Given the description of an element on the screen output the (x, y) to click on. 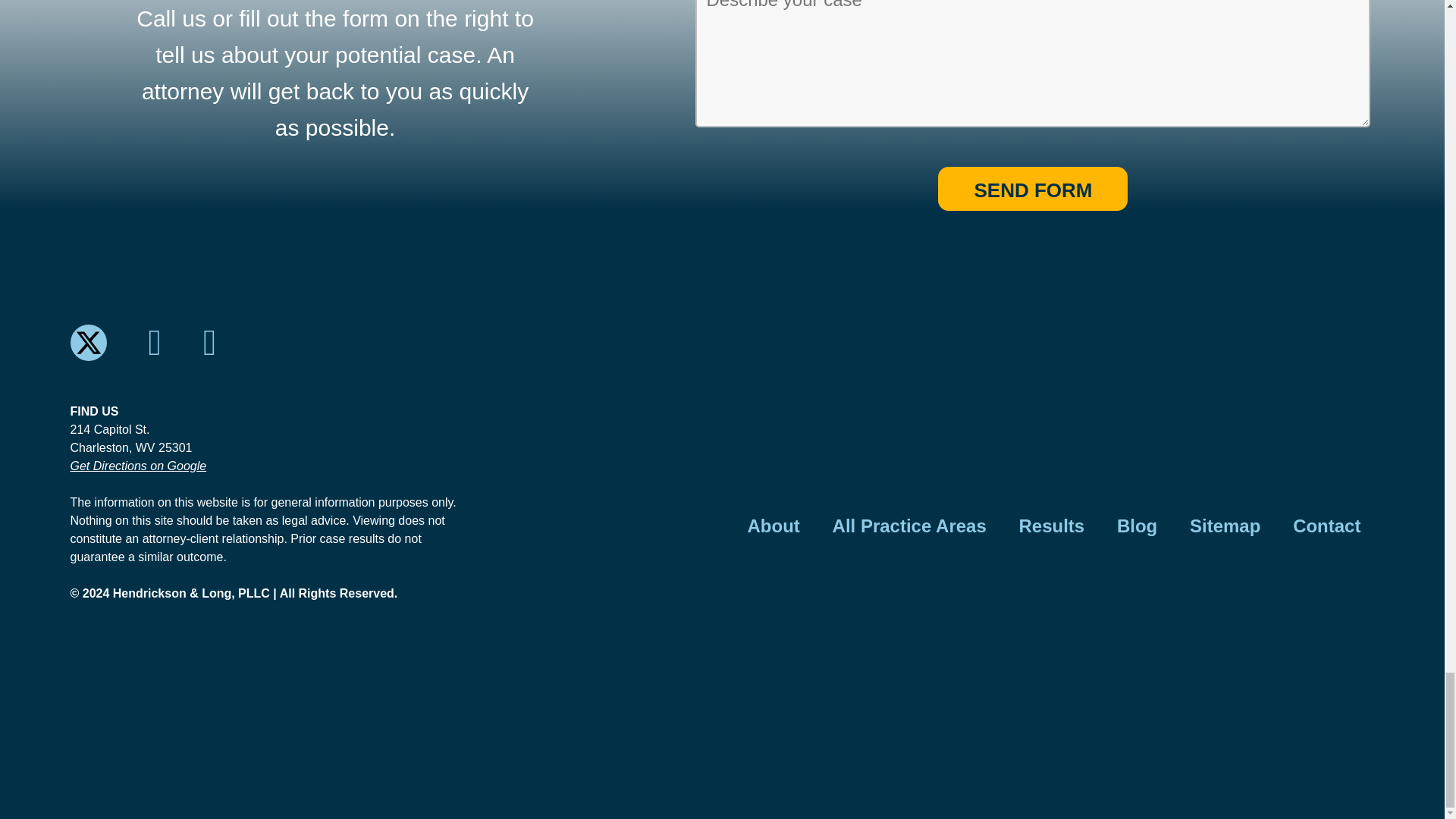
Send Form (1031, 188)
